Given the description of an element on the screen output the (x, y) to click on. 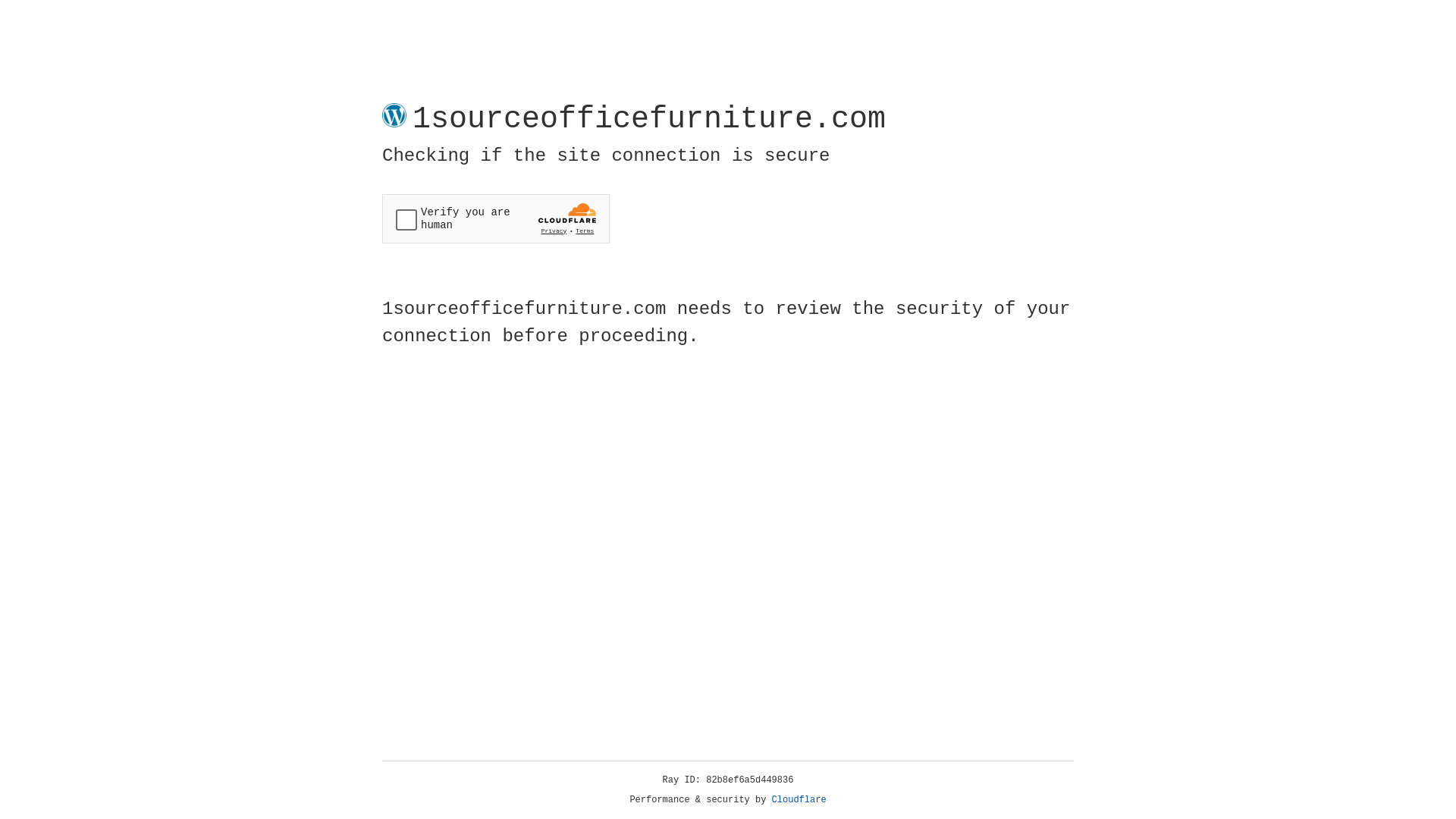
Cloudflare Element type: text (798, 799)
Widget containing a Cloudflare security challenge Element type: hover (495, 218)
